Given the description of an element on the screen output the (x, y) to click on. 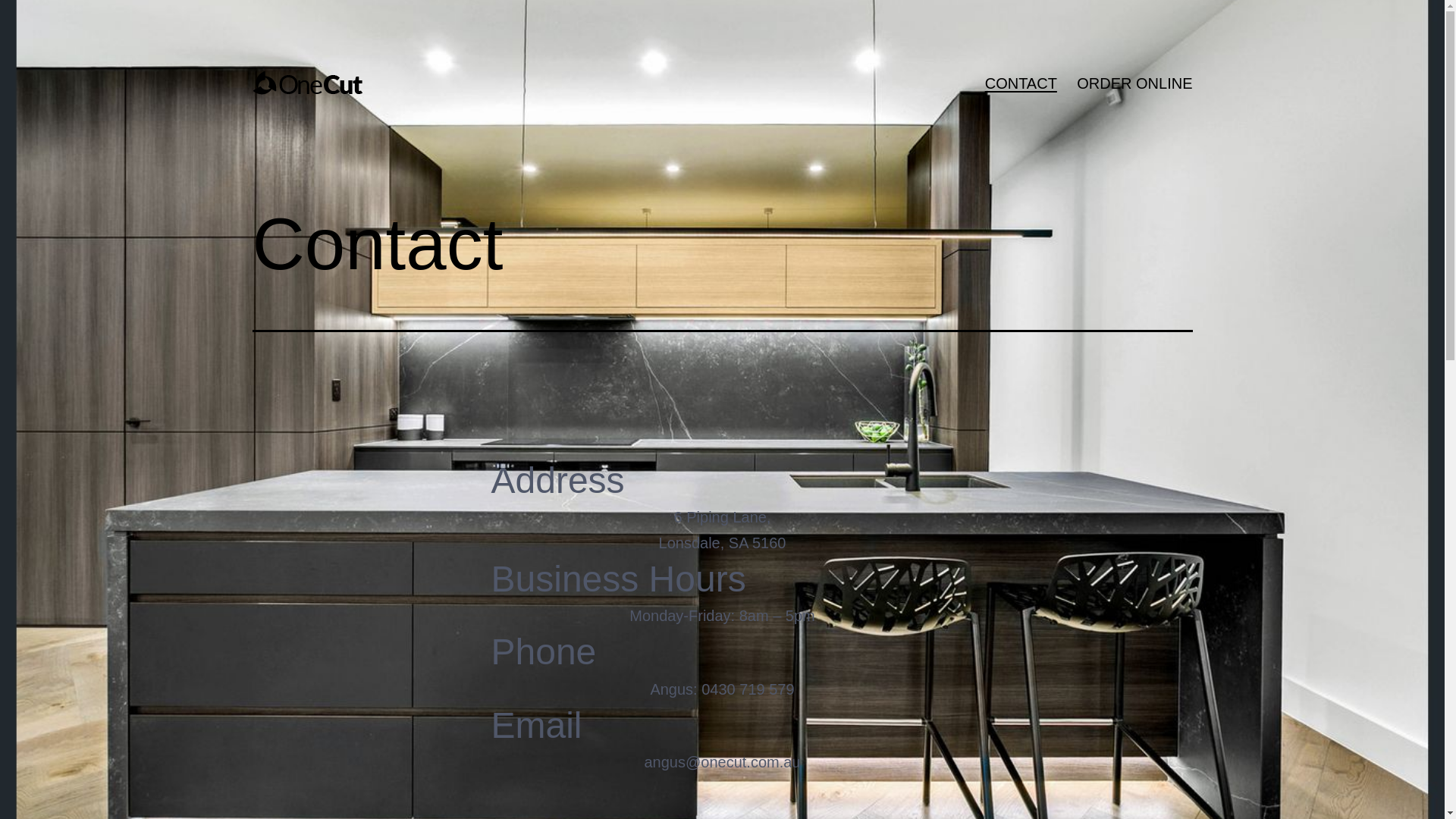
ORDER ONLINE Element type: text (1134, 83)
CONTACT Element type: text (1021, 83)
